Given the description of an element on the screen output the (x, y) to click on. 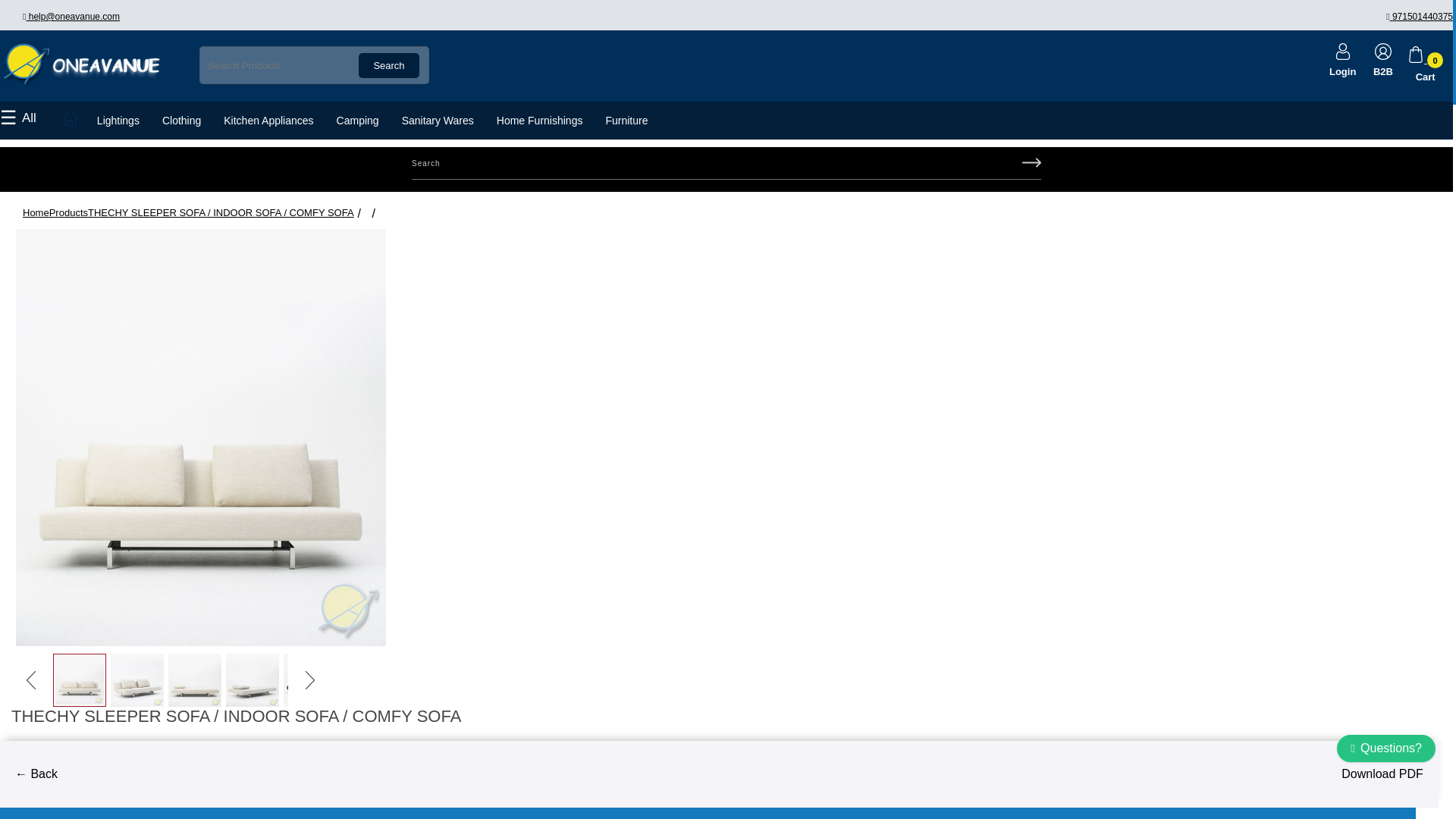
B2B (1382, 56)
Search (388, 65)
Login (1343, 56)
